Given the description of an element on the screen output the (x, y) to click on. 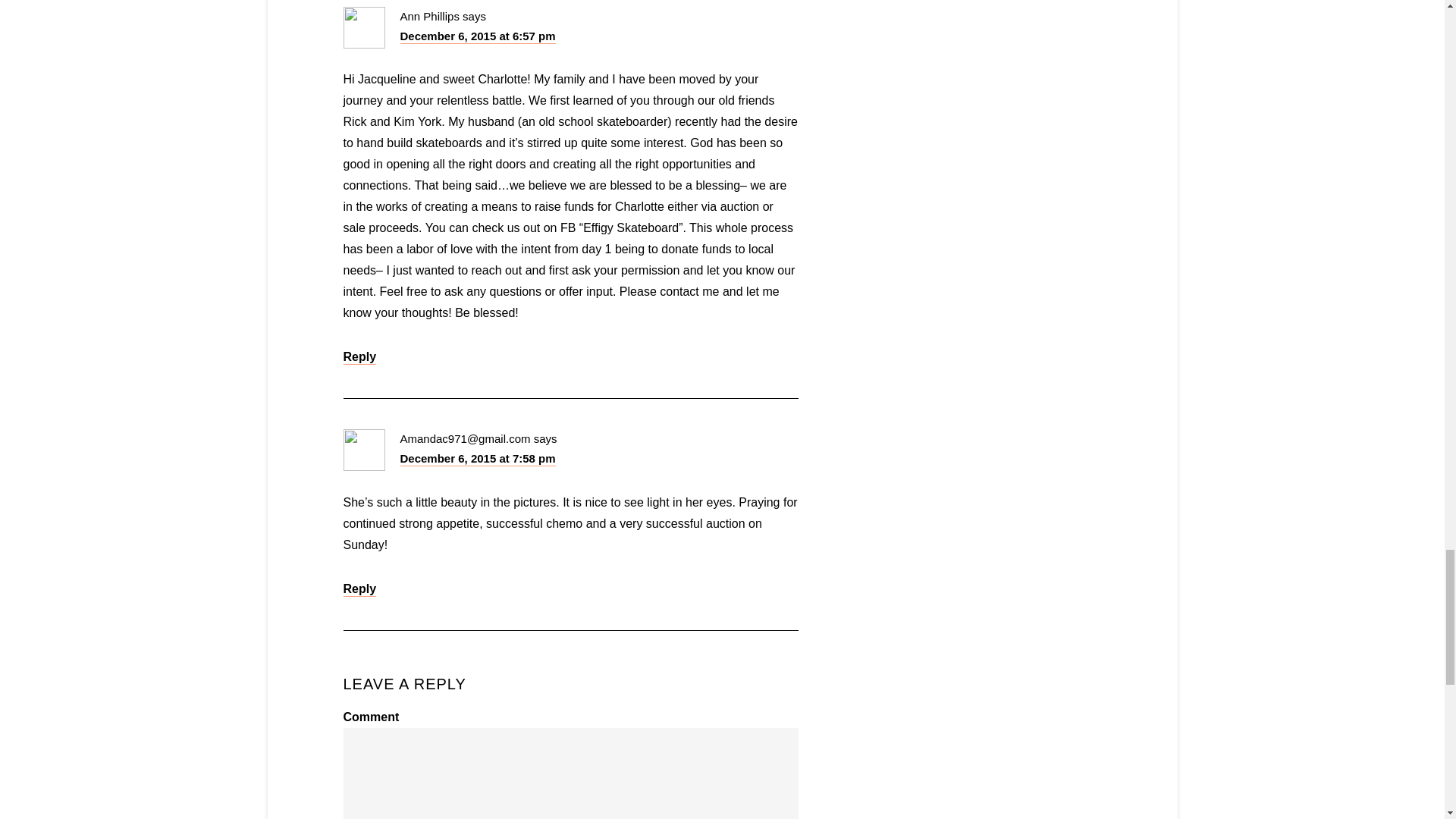
December 6, 2015 at 6:57 pm (478, 36)
Reply (358, 357)
December 6, 2015 at 7:58 pm (478, 459)
Reply (358, 589)
